Given the description of an element on the screen output the (x, y) to click on. 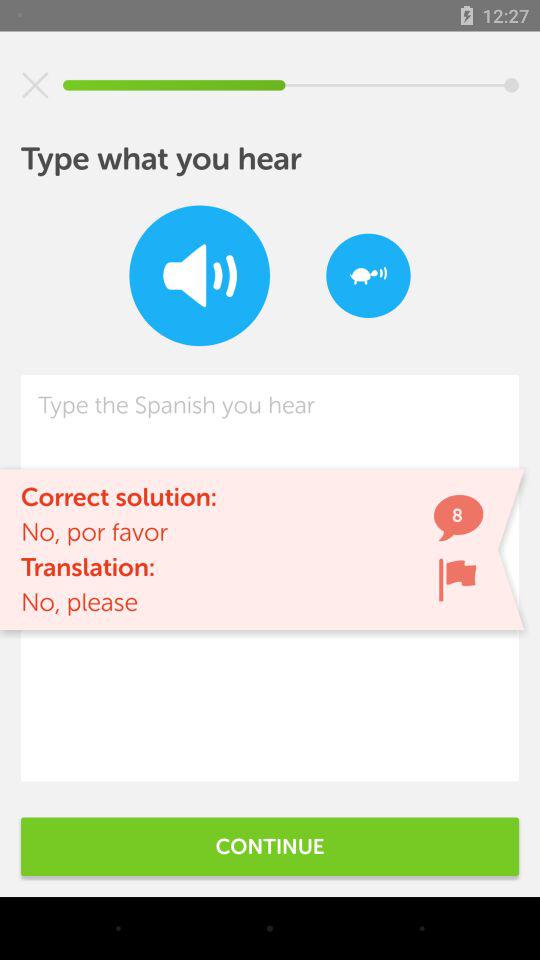
text entry box (270, 578)
